Given the description of an element on the screen output the (x, y) to click on. 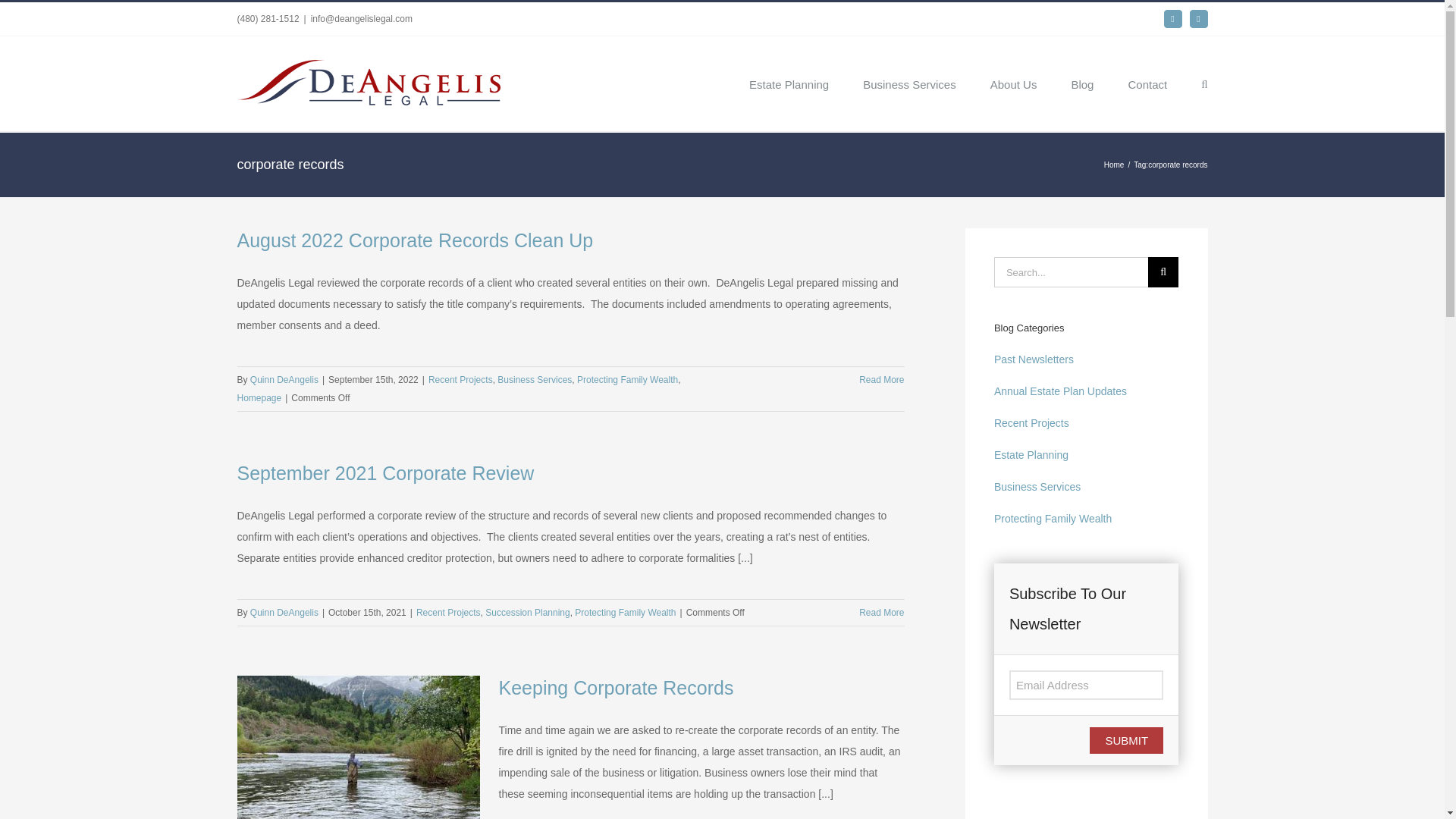
Business Services (909, 83)
Posts by Quinn DeAngelis (284, 379)
About Us (1013, 83)
Estate Planning (788, 83)
Contact (1146, 83)
Facebook (1172, 18)
Blog (1081, 83)
LinkedIn (1198, 18)
LinkedIn (1198, 18)
Facebook (1172, 18)
Posts by Quinn DeAngelis (284, 612)
